Given the description of an element on the screen output the (x, y) to click on. 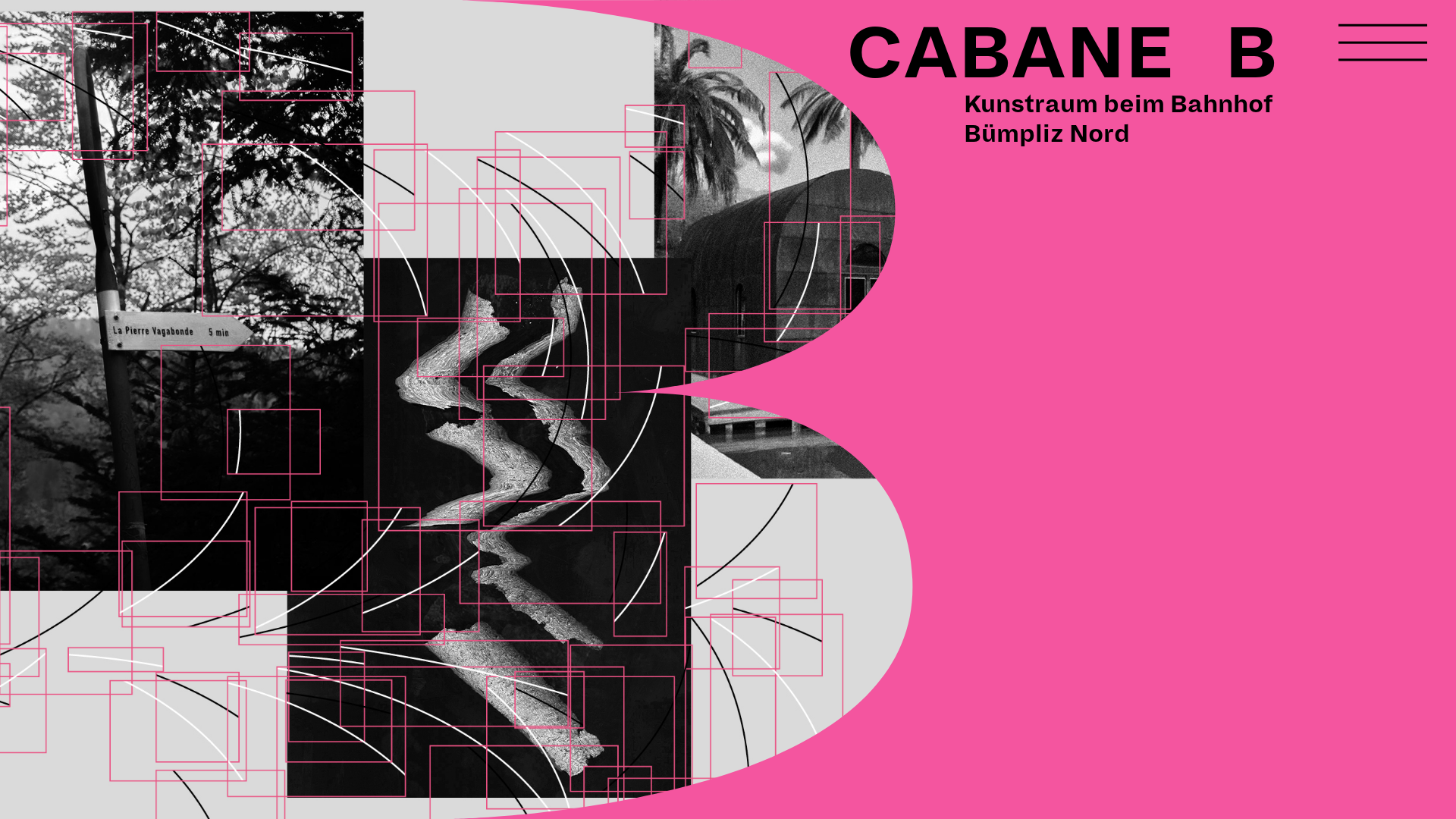
CABANE   B Element type: text (1061, 54)
